Given the description of an element on the screen output the (x, y) to click on. 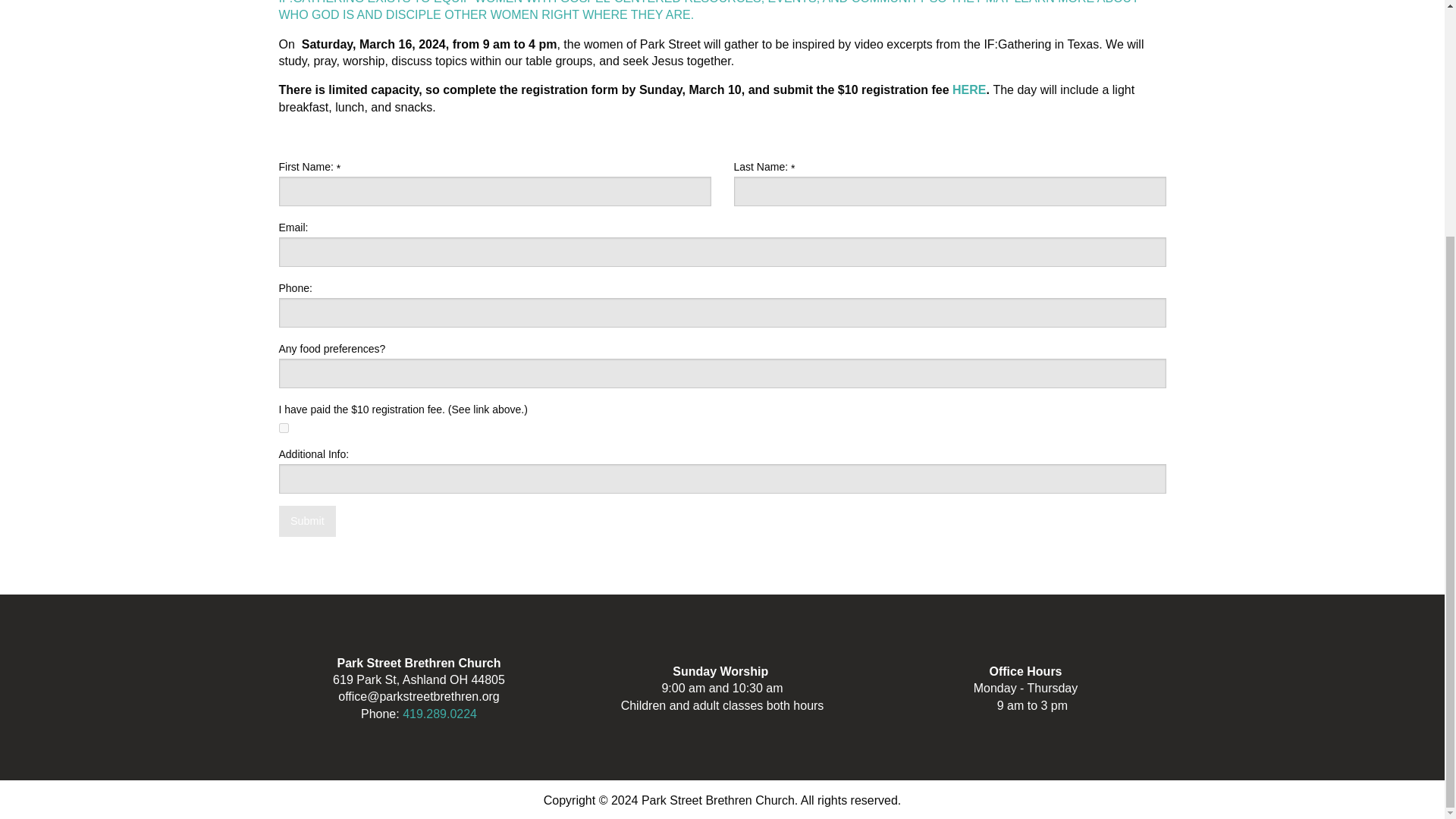
I Agree (283, 428)
Submit (307, 521)
